Given the description of an element on the screen output the (x, y) to click on. 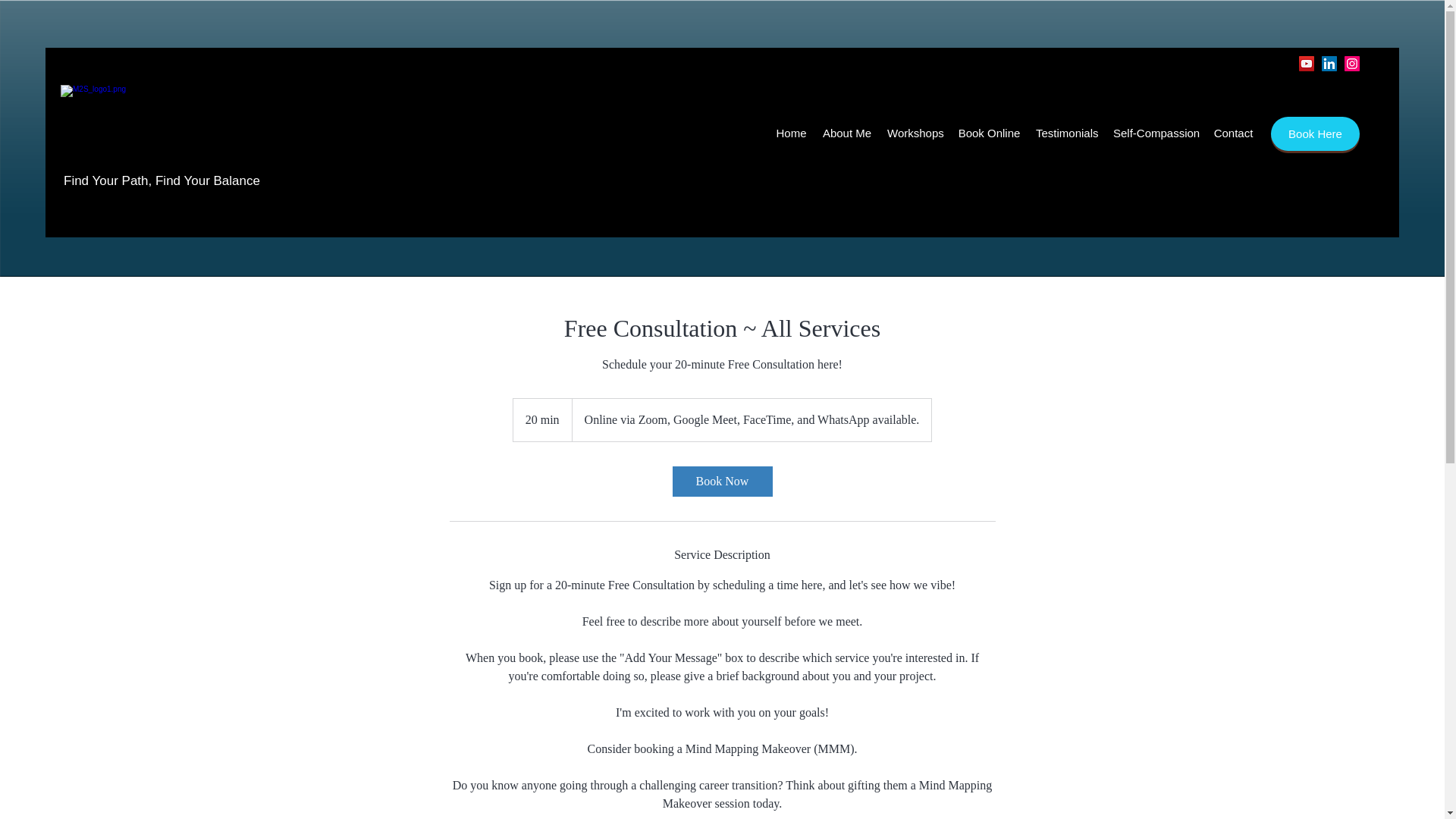
Book Now (721, 481)
Testimonials (1066, 133)
Home (790, 133)
Book Online (988, 133)
Workshops (914, 133)
Book Here (1315, 133)
About Me (846, 133)
Contact (1232, 133)
Self-Compassion (1155, 133)
